Given the description of an element on the screen output the (x, y) to click on. 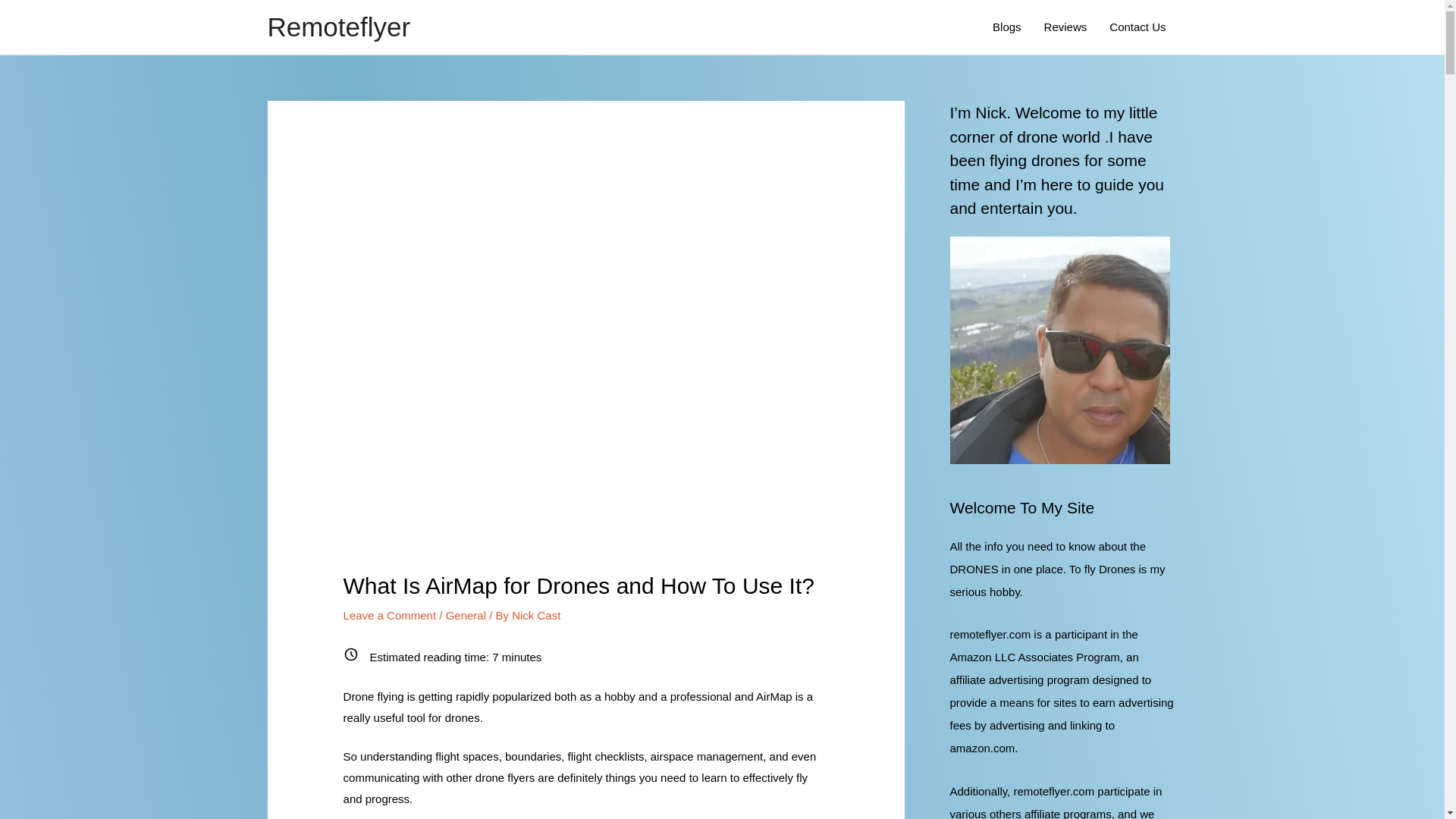
Nick Cast (536, 615)
Reviews (1065, 27)
Remoteflyer (338, 26)
Contact Us (1136, 27)
Blogs (1006, 27)
General (465, 615)
View all posts by Nick Cast (536, 615)
Leave a Comment (389, 615)
